Given the description of an element on the screen output the (x, y) to click on. 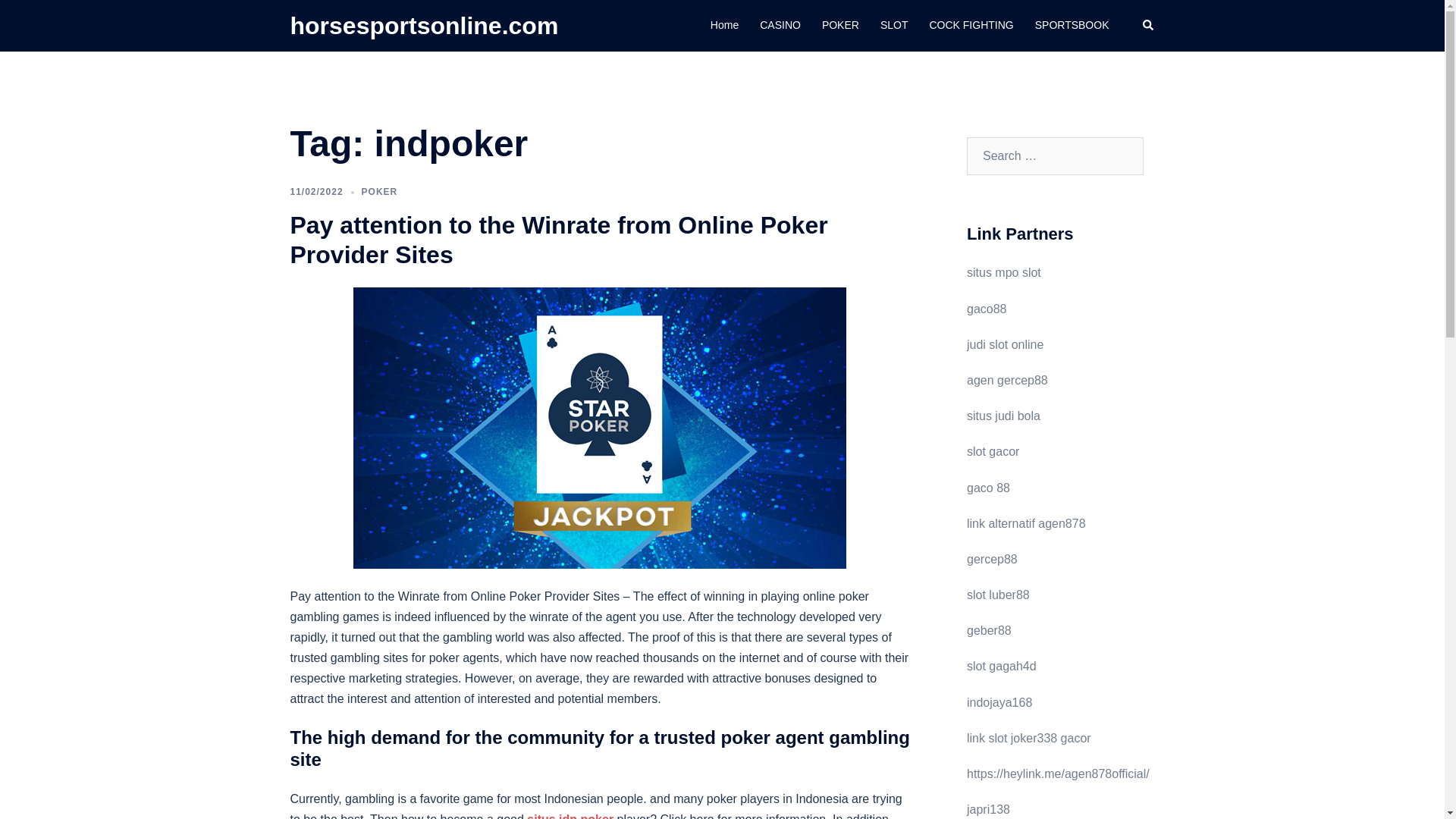
agen gercep88 (1007, 379)
POKER (840, 25)
gaco 88 (988, 487)
COCK FIGHTING (970, 25)
SLOT (894, 25)
SPORTSBOOK (1072, 25)
situs judi bola (1003, 415)
geber88 (988, 630)
gercep88 (991, 558)
Search (47, 18)
slot luber88 (997, 594)
CASINO (780, 25)
situs mpo slot (1003, 272)
